Given the description of an element on the screen output the (x, y) to click on. 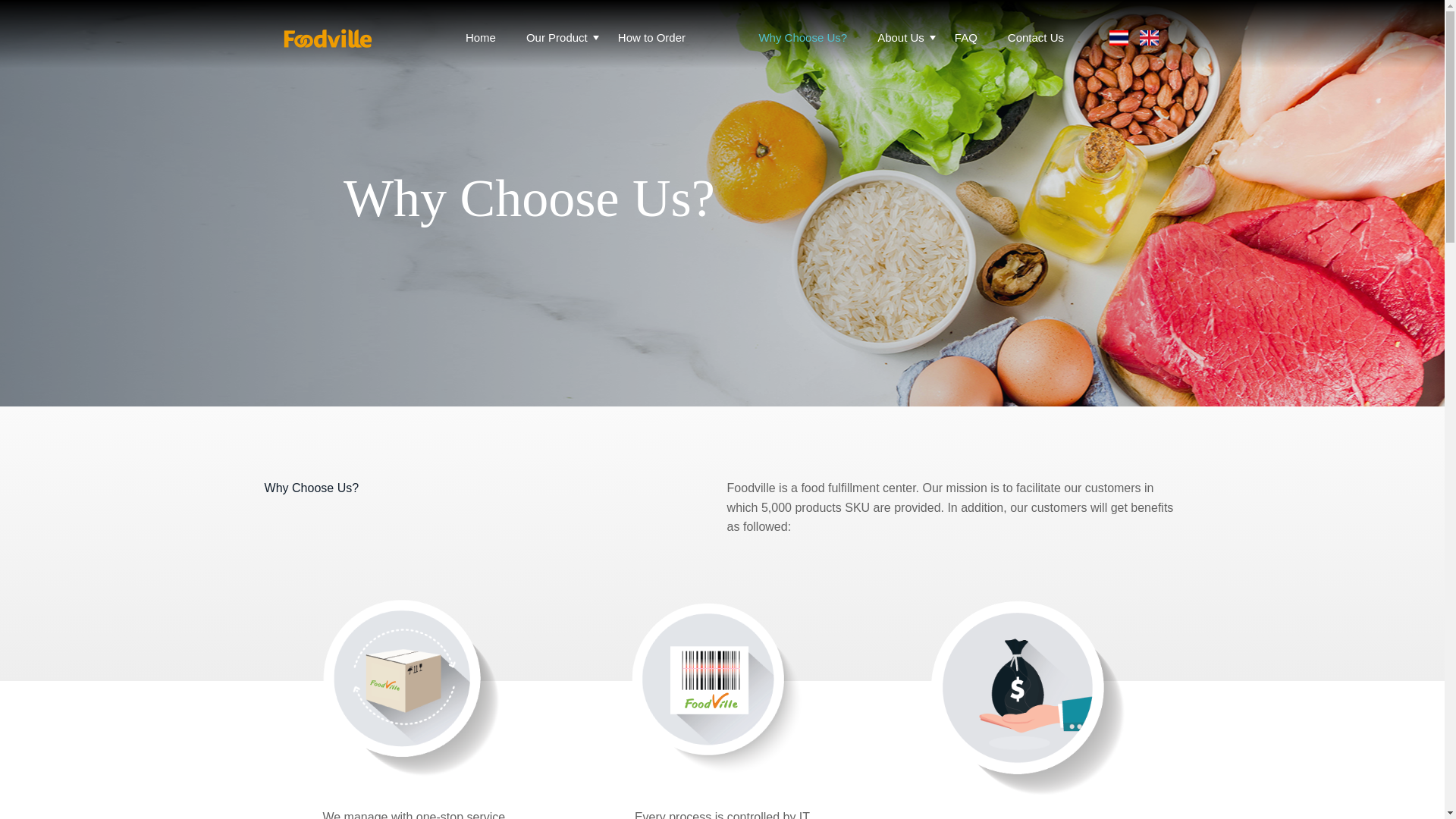
English (1147, 37)
foodville-image-icon1-desktop (413, 684)
Why Choose Us? (799, 38)
FoodVille Co., Ltd. (327, 56)
About Us (897, 38)
Artboard 4 copy 17 (1030, 694)
Our Product (552, 38)
Contact Us (1031, 38)
foodville-image-icon2-desktop (721, 684)
How to Order (647, 38)
